Given the description of an element on the screen output the (x, y) to click on. 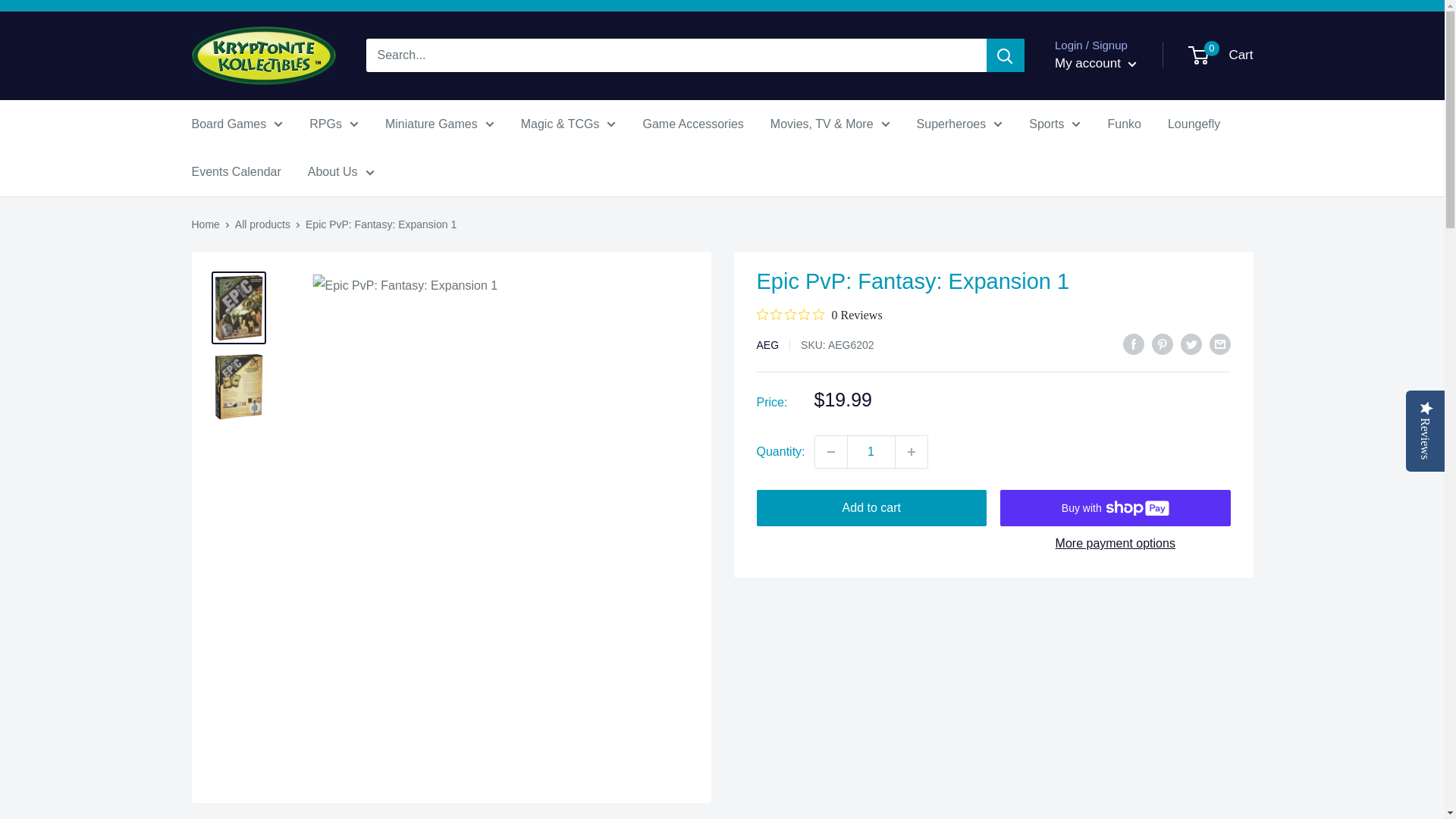
Increase quantity by 1 (911, 451)
Decrease quantity by 1 (831, 451)
0 Reviews (819, 315)
1 (871, 451)
